Given the description of an element on the screen output the (x, y) to click on. 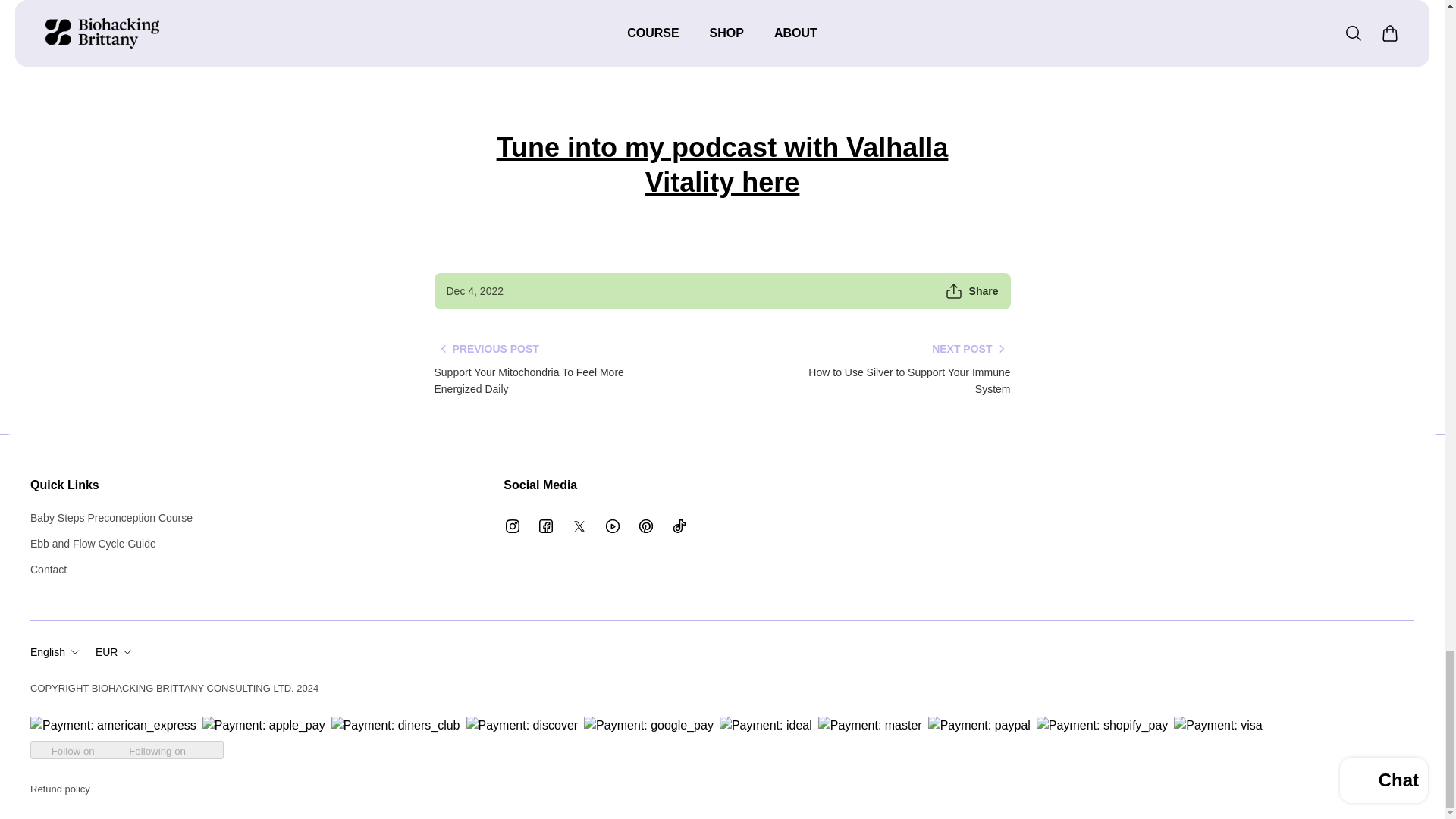
Baby Steps Preconception Course (111, 517)
ENTER MY GIVEAWAY HERE (721, 50)
PREVIOUS POST (485, 348)
valhalla vitality discount code THCV NMN biohacking brittany (721, 50)
Contact (111, 569)
NEXT POST (970, 348)
Ebb and Flow Cycle Guide (111, 543)
valhalla vitality THCV NMN discount code biohacking brittany (721, 164)
Tune into my podcast with Valhalla Vitality here (721, 164)
Refund policy (60, 789)
